Given the description of an element on the screen output the (x, y) to click on. 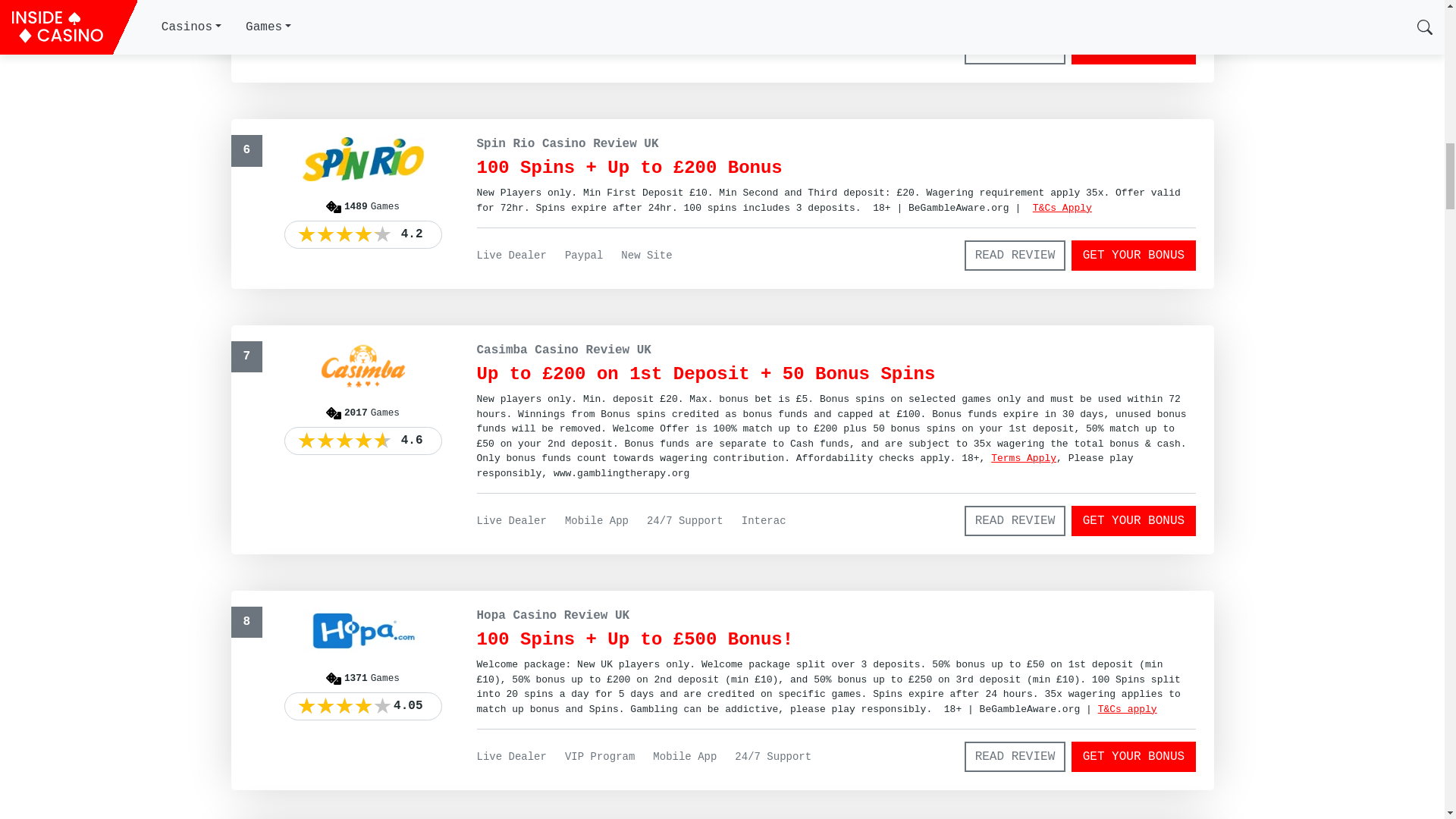
Spin Rio (1062, 207)
Hopa Terms (1127, 708)
